Given the description of an element on the screen output the (x, y) to click on. 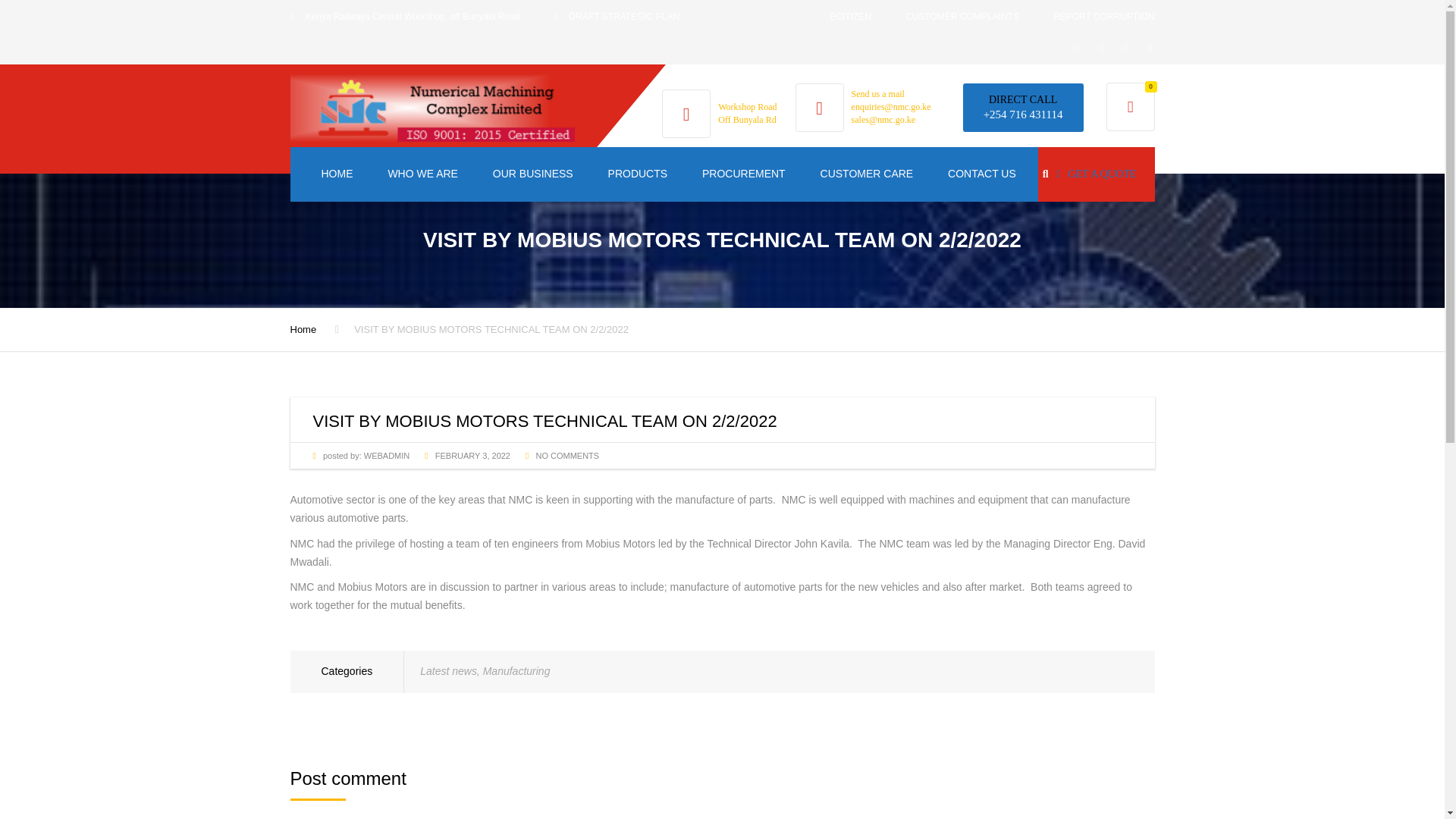
CUSTOMER COMPLAINTS (962, 16)
PRODUCTS (638, 174)
OUR BUSINESS (533, 174)
GET A QUOTE (1096, 174)
WHO WE ARE (422, 174)
HOME (336, 174)
DRAFT STRATEGIC PLAN (624, 16)
ECITIZEN (849, 16)
REPORT CORRUPTION (1103, 16)
